Given the description of an element on the screen output the (x, y) to click on. 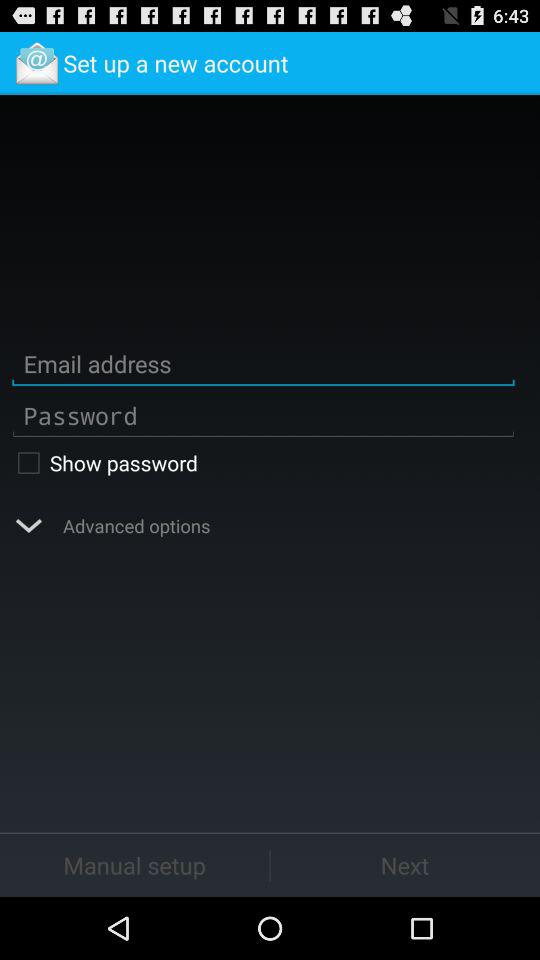
launch the next button (405, 864)
